Given the description of an element on the screen output the (x, y) to click on. 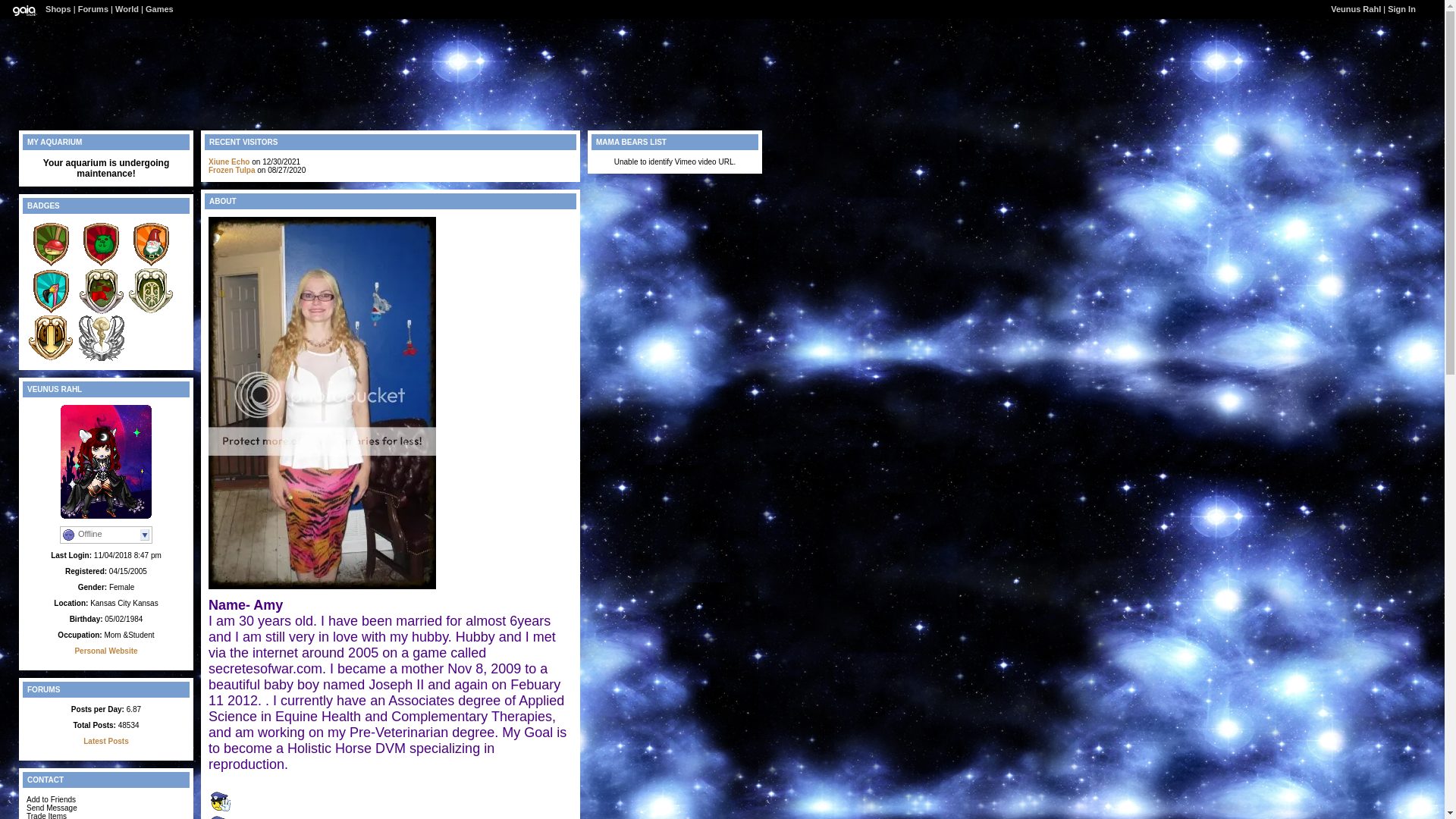
Shops (58, 8)
Veunus Rahl (1355, 8)
World (126, 8)
Sign In (1401, 8)
Forums (92, 8)
Personal Website (105, 651)
Latest Posts (105, 741)
Games (159, 8)
